Given the description of an element on the screen output the (x, y) to click on. 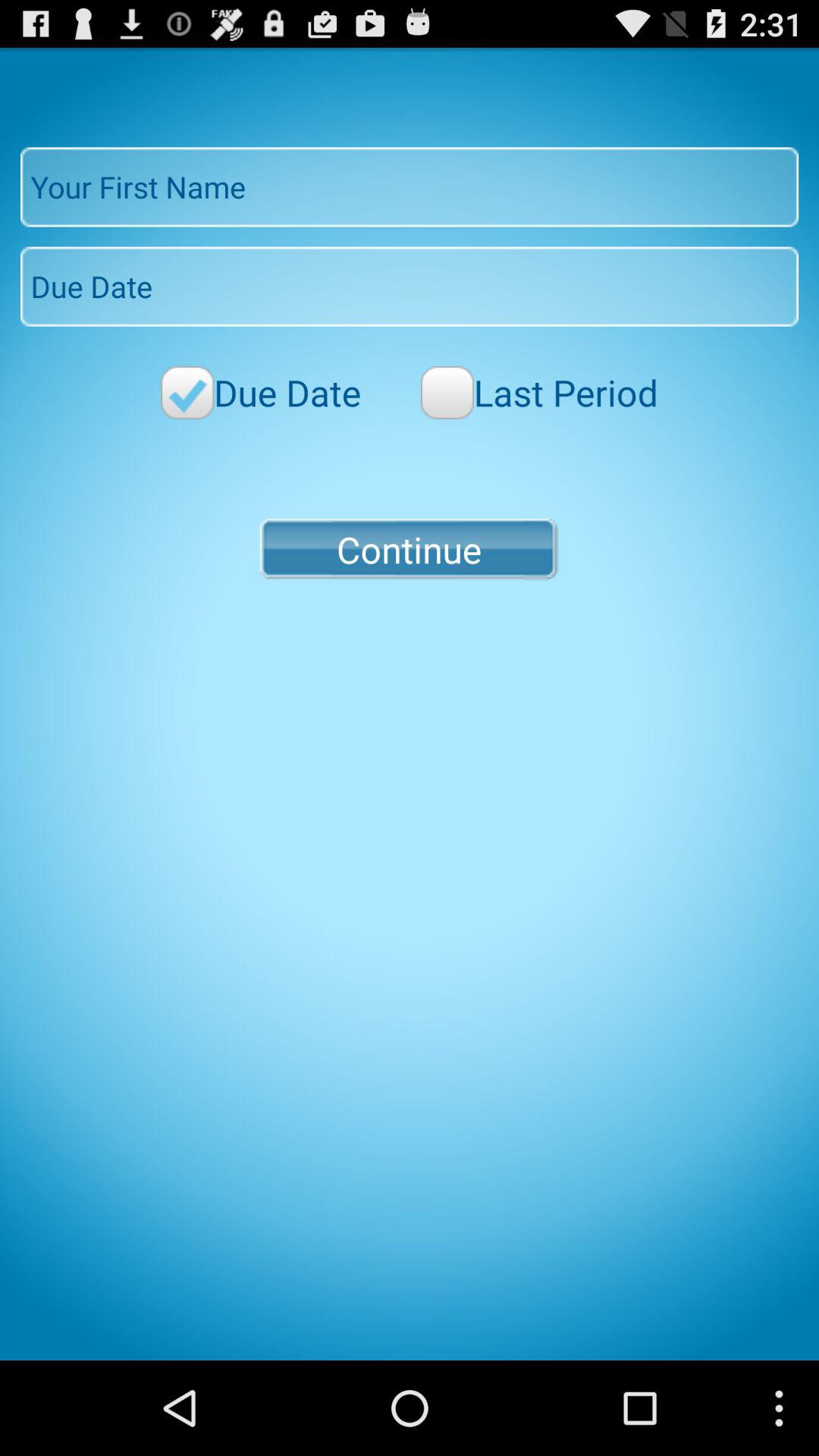
jump to last period (539, 392)
